Given the description of an element on the screen output the (x, y) to click on. 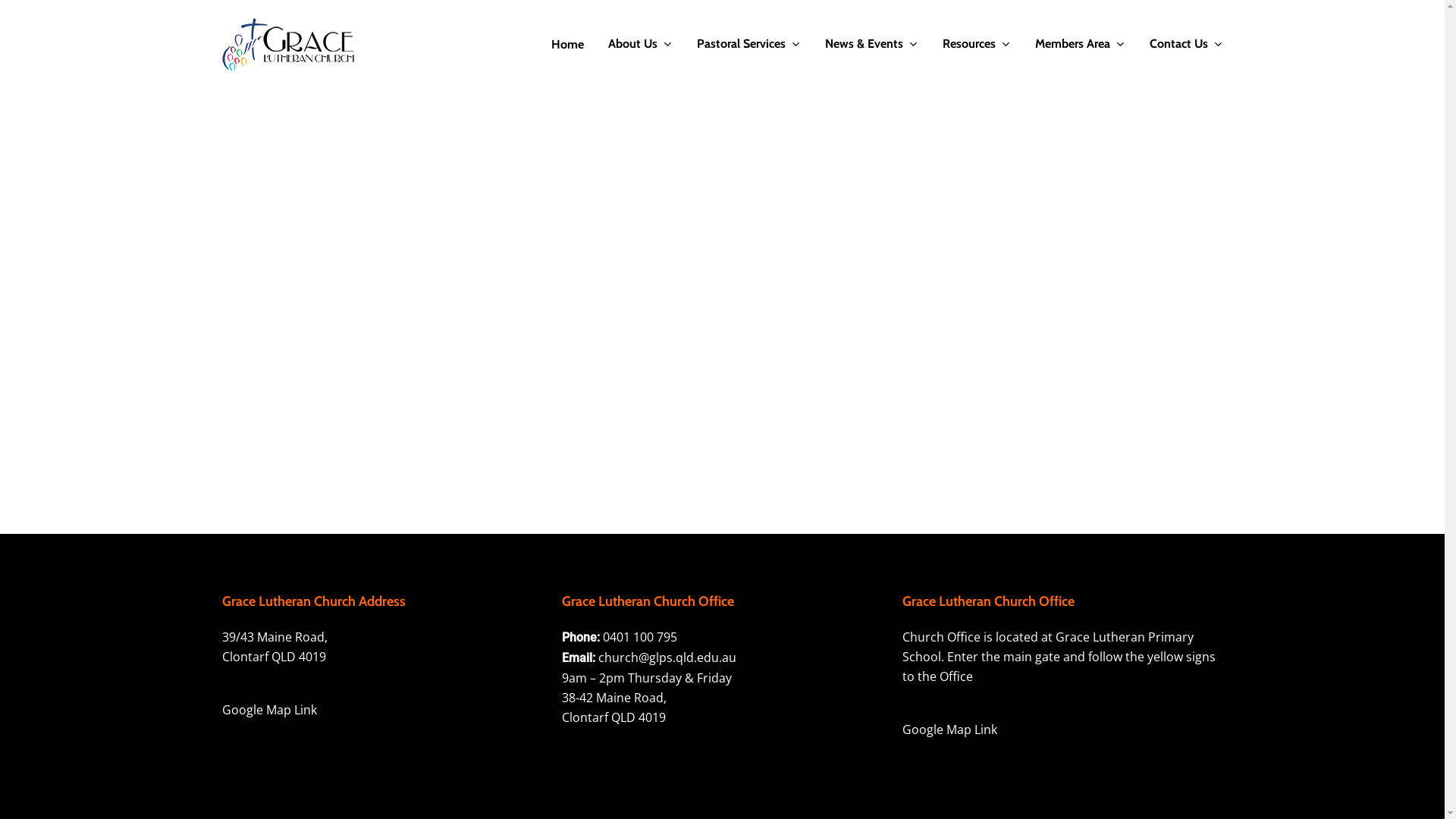
Home Element type: text (566, 44)
News & Events Element type: text (871, 43)
Google Map Link Element type: text (949, 729)
Resources Element type: text (975, 43)
Google Map Link Element type: text (268, 709)
Pastoral Services Element type: text (748, 43)
Contact Us Element type: text (1186, 43)
About Us Element type: text (640, 43)
Members Area Element type: text (1079, 43)
